Given the description of an element on the screen output the (x, y) to click on. 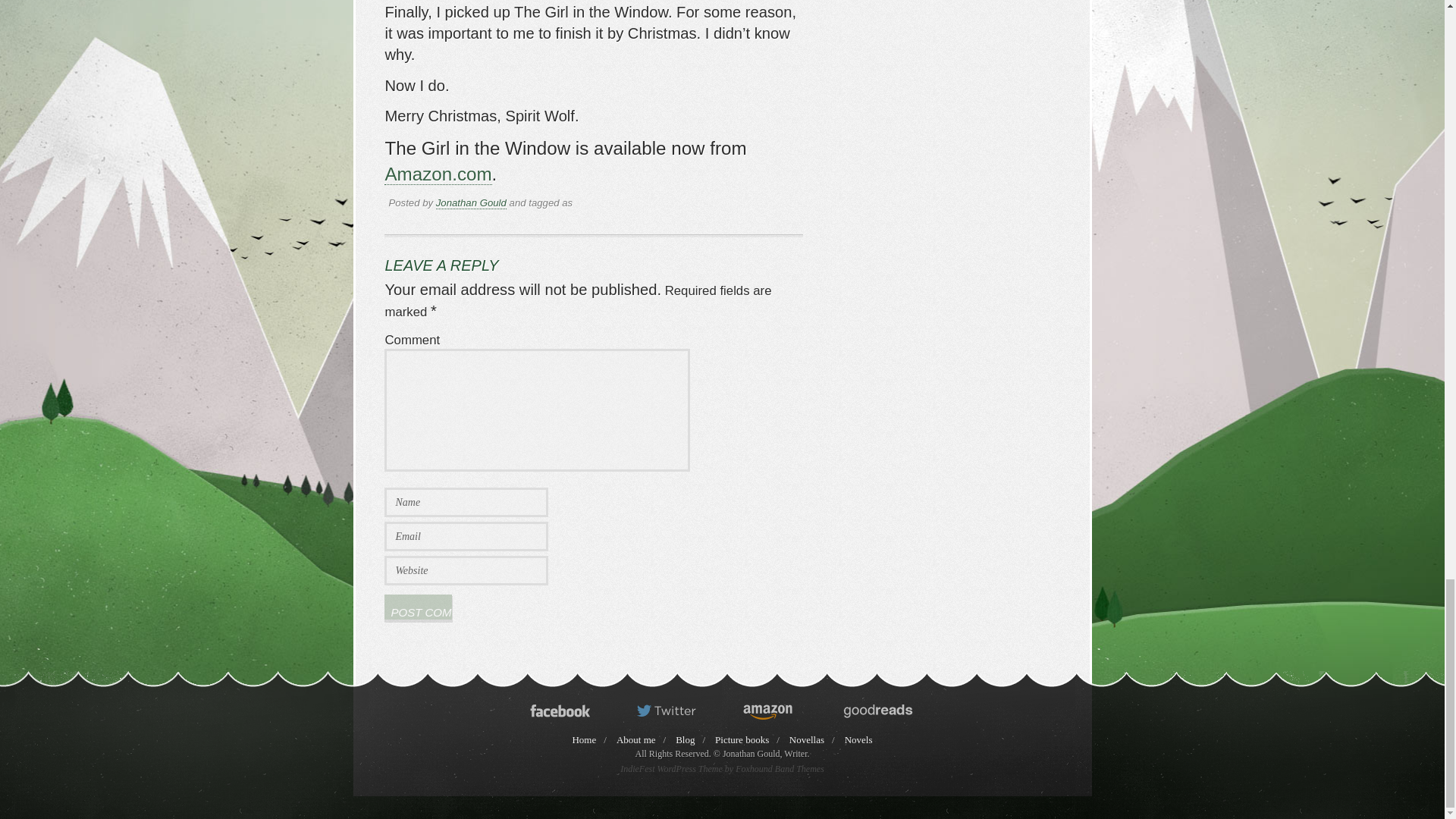
Name (466, 501)
Jonathan Gould (470, 203)
Post Comment (417, 606)
Website (466, 570)
Post Comment (417, 606)
Posts by Jonathan Gould (470, 203)
Amazon.com (438, 174)
Email (466, 536)
